Given the description of an element on the screen output the (x, y) to click on. 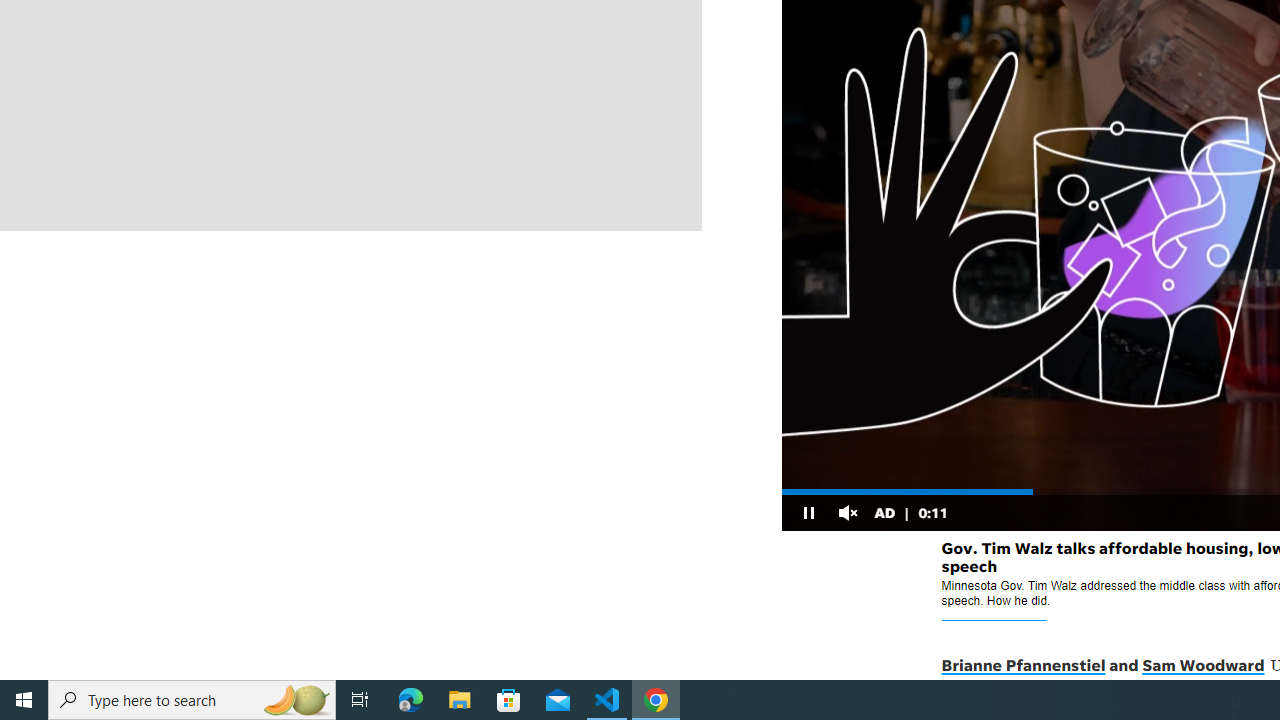
Brianne Pfannenstiel (1022, 665)
Sam Woodward (1202, 665)
